Given the description of an element on the screen output the (x, y) to click on. 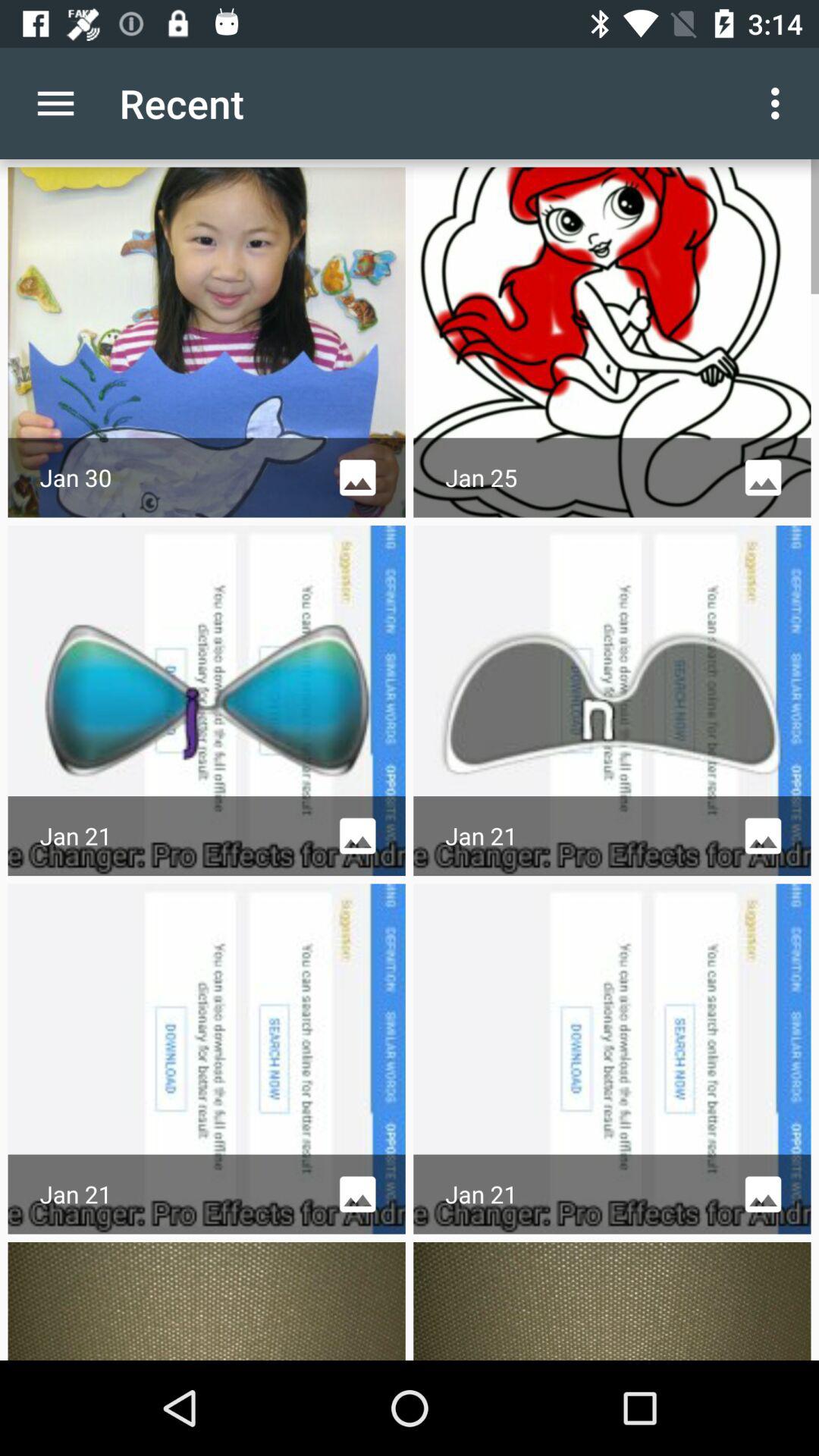
open item to the right of recent icon (779, 103)
